Given the description of an element on the screen output the (x, y) to click on. 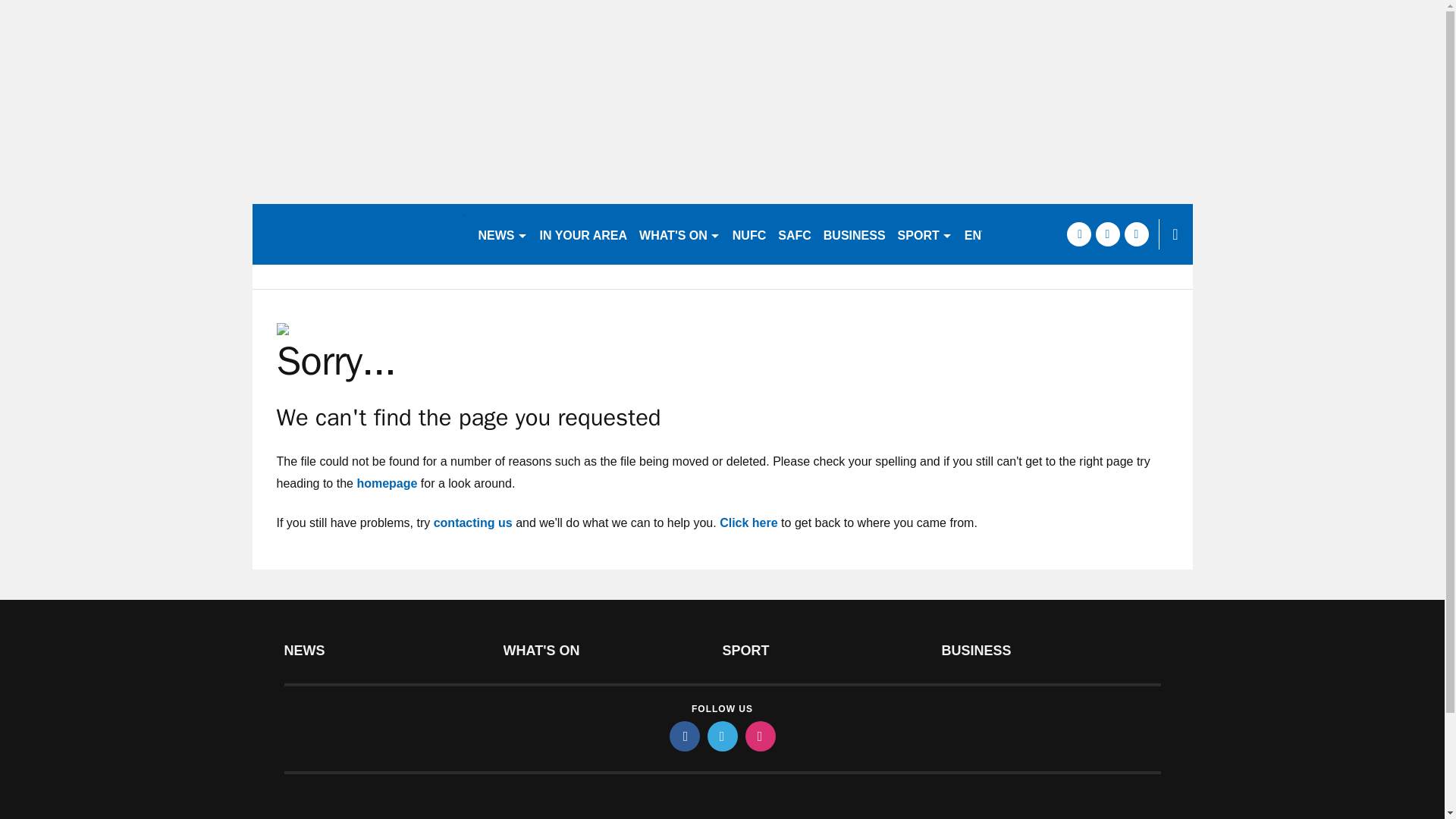
NEWS (501, 233)
facebook (683, 736)
SPORT (924, 233)
facebook (1077, 233)
instagram (759, 736)
twitter (1106, 233)
IN YOUR AREA (583, 233)
WHAT'S ON (679, 233)
BUSINESS (853, 233)
nechronicle (357, 233)
